Given the description of an element on the screen output the (x, y) to click on. 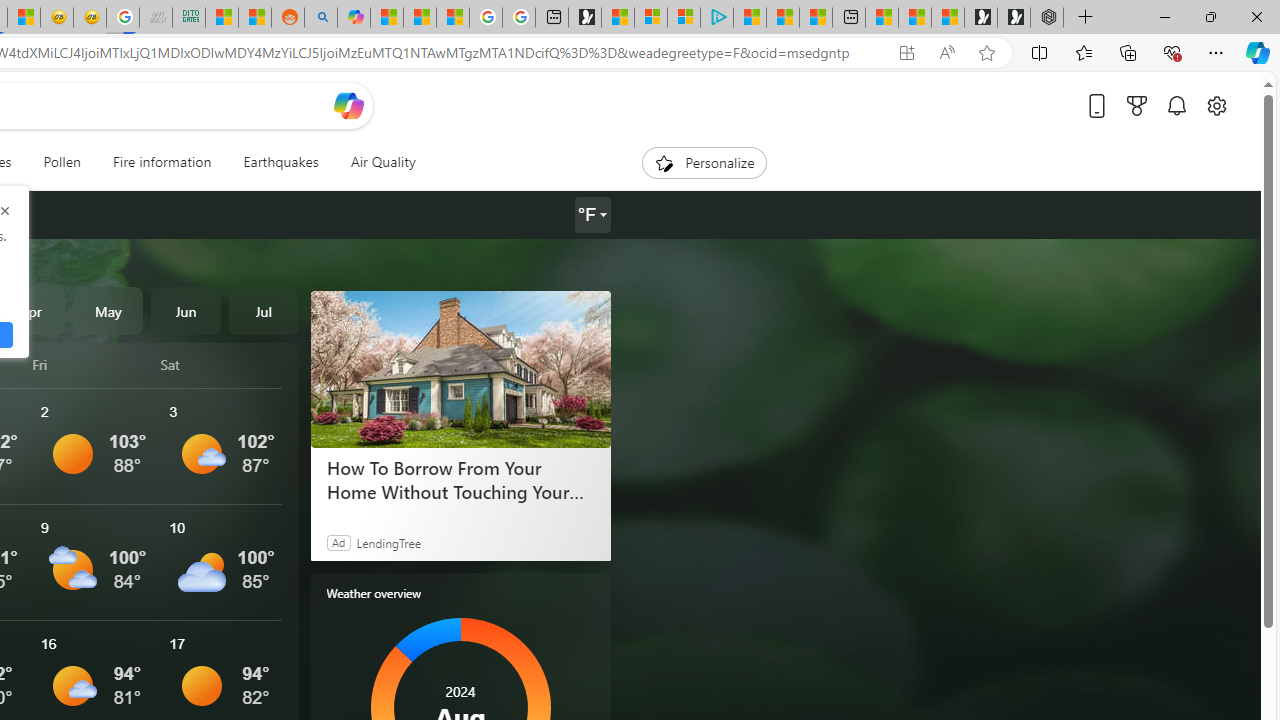
How To Borrow From Your Home Without Touching Your Mortgage (460, 479)
Jul (263, 310)
May (107, 310)
Weather settings (591, 215)
Microsoft Copilot in Bing (353, 17)
Earthquakes (280, 162)
